Given the description of an element on the screen output the (x, y) to click on. 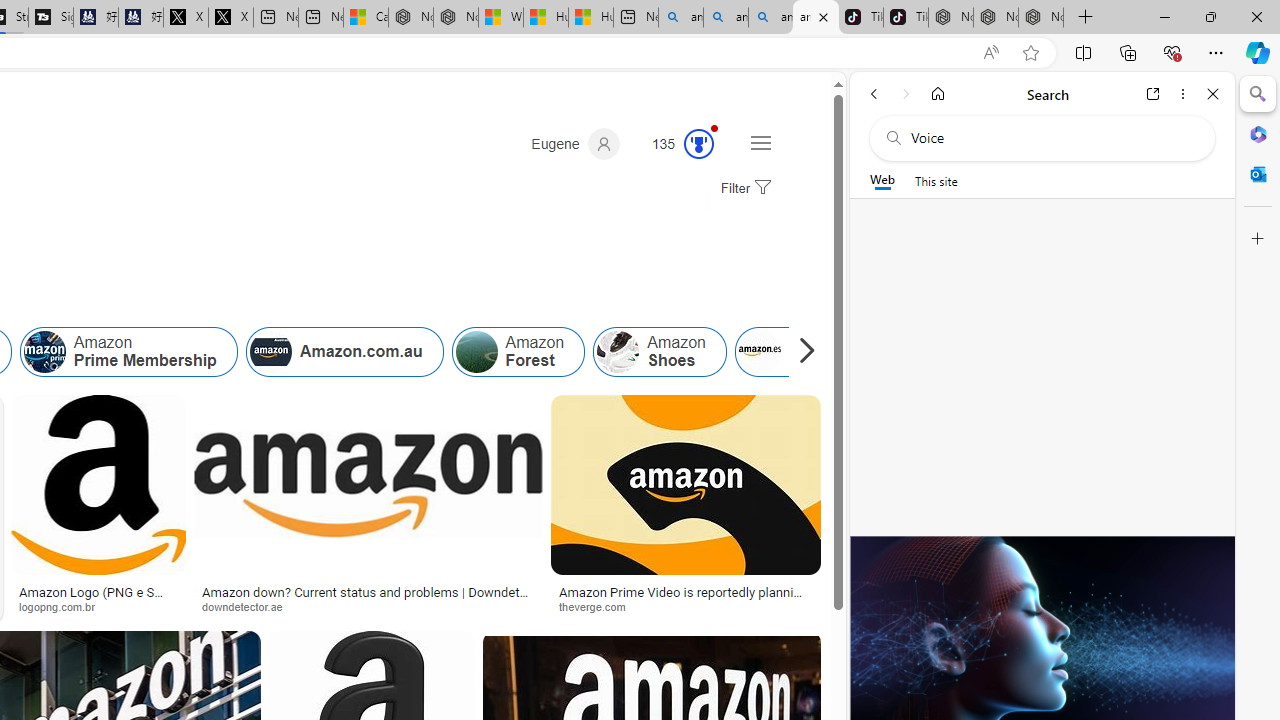
Amazon down? Current status and problems | Downdetector (368, 598)
downdetector.ae (249, 605)
Amazon Shoes (618, 351)
Class: medal-circled (699, 143)
TikTok (905, 17)
Customize (1258, 239)
Eugene (575, 143)
